Given the description of an element on the screen output the (x, y) to click on. 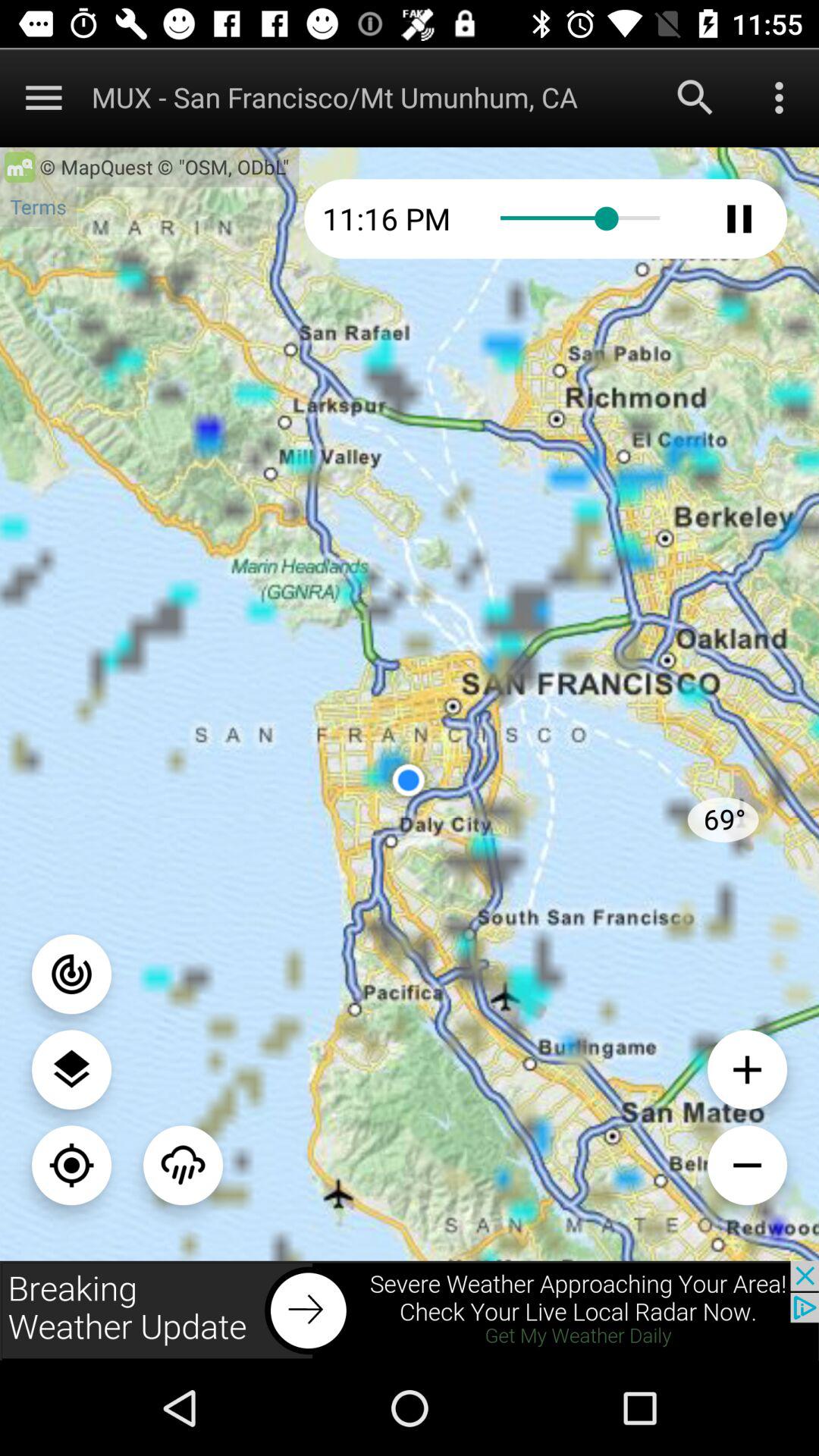
map options (43, 97)
